Given the description of an element on the screen output the (x, y) to click on. 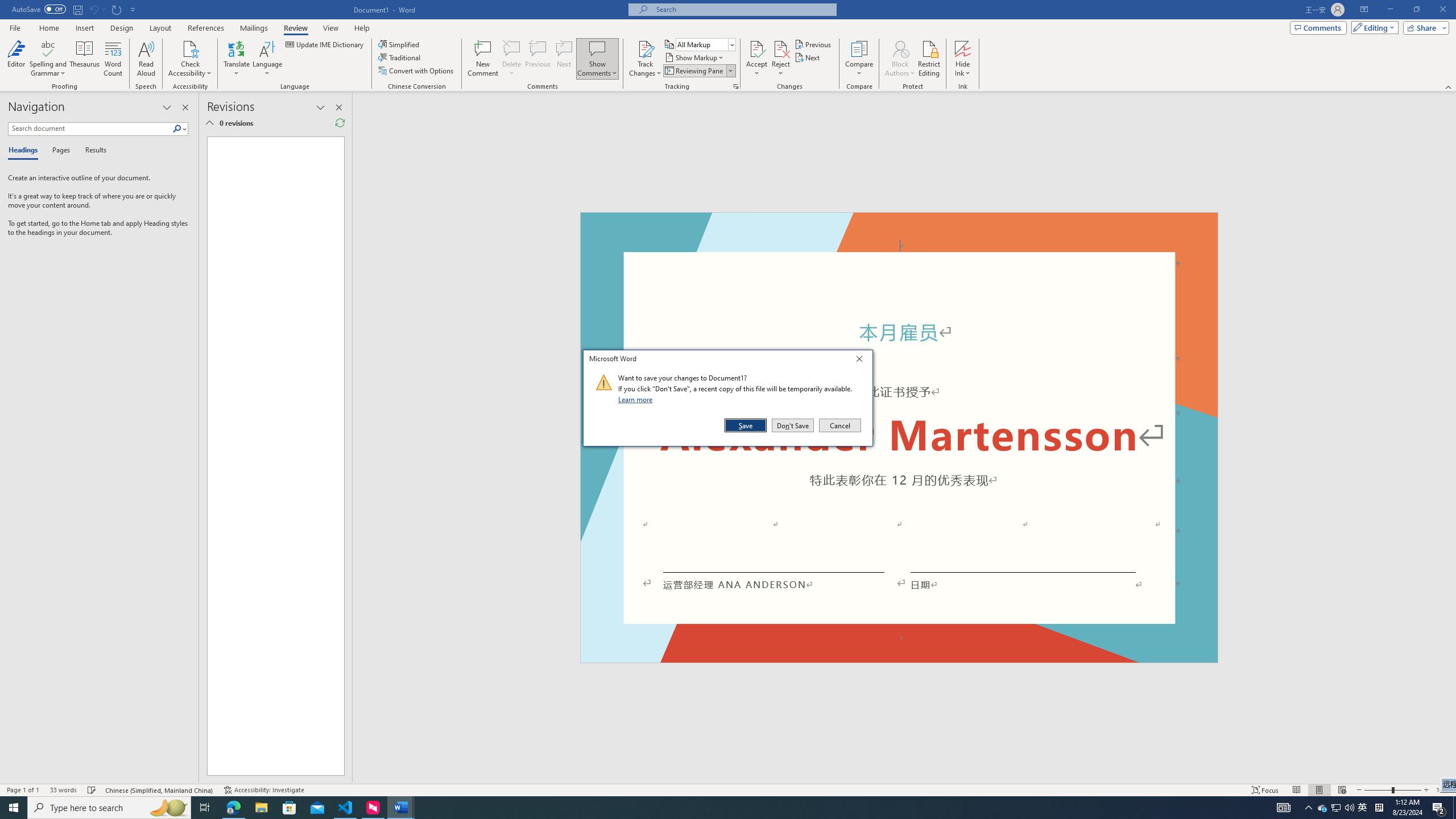
Repeat Doc Close (117, 9)
Microsoft Store (289, 807)
Reviewing Pane (694, 69)
Headings (25, 150)
Mode (1372, 27)
Results (91, 150)
Q2790: 100% (1349, 807)
Change Tracking Options... (735, 85)
Can't Undo (1362, 807)
